Given the description of an element on the screen output the (x, y) to click on. 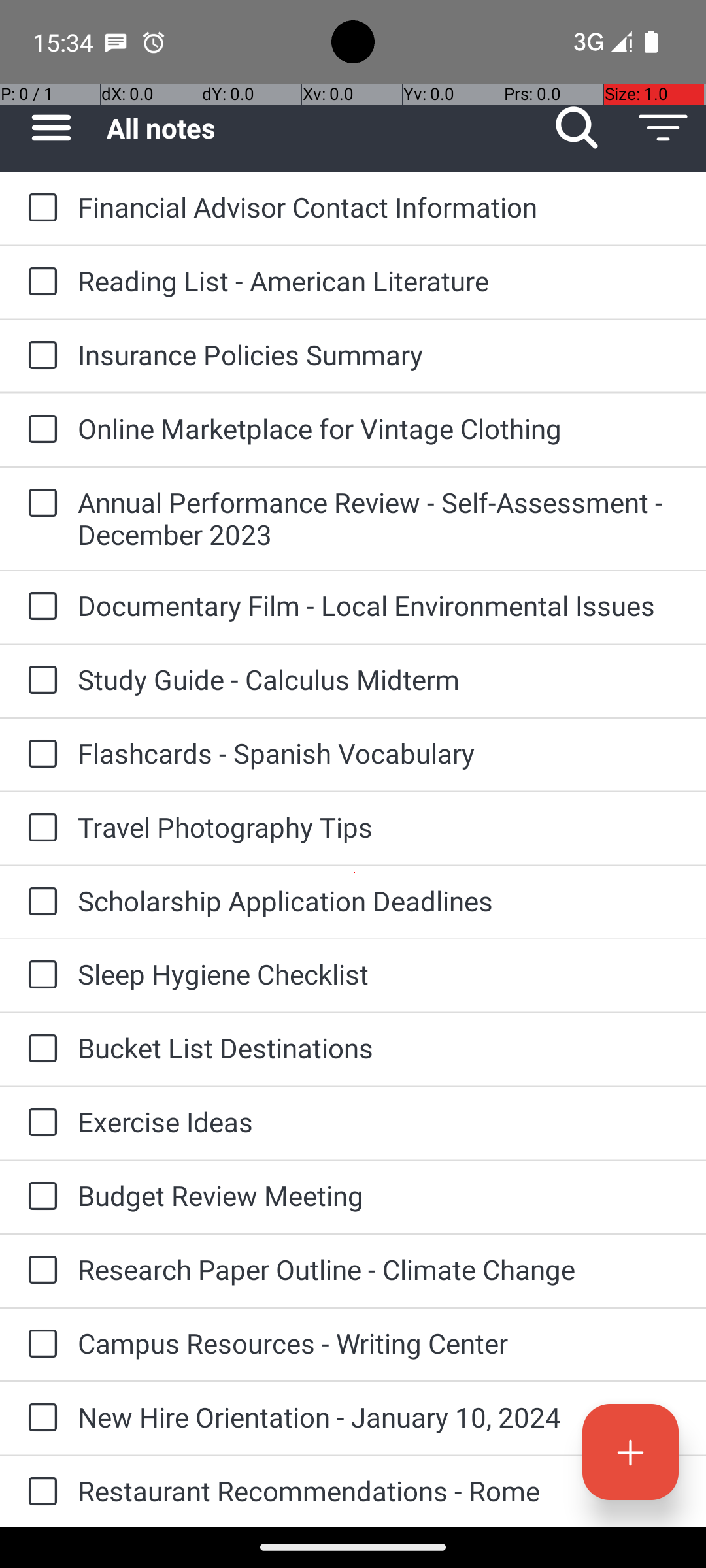
to-do: Reading List - American Literature Element type: android.widget.CheckBox (38, 282)
Reading List - American Literature Element type: android.widget.TextView (378, 280)
to-do: Insurance Policies Summary Element type: android.widget.CheckBox (38, 356)
Insurance Policies Summary Element type: android.widget.TextView (378, 354)
to-do: Documentary Film - Local Environmental Issues Element type: android.widget.CheckBox (38, 606)
Documentary Film - Local Environmental Issues Element type: android.widget.TextView (378, 604)
to-do: Study Guide - Calculus Midterm Element type: android.widget.CheckBox (38, 680)
Study Guide - Calculus Midterm Element type: android.widget.TextView (378, 678)
to-do: Flashcards - Spanish Vocabulary Element type: android.widget.CheckBox (38, 754)
Flashcards - Spanish Vocabulary Element type: android.widget.TextView (378, 752)
to-do: Travel Photography Tips Element type: android.widget.CheckBox (38, 828)
Travel Photography Tips Element type: android.widget.TextView (378, 826)
to-do: Scholarship Application Deadlines Element type: android.widget.CheckBox (38, 902)
Scholarship Application Deadlines Element type: android.widget.TextView (378, 900)
to-do: Sleep Hygiene Checklist Element type: android.widget.CheckBox (38, 975)
Sleep Hygiene Checklist Element type: android.widget.TextView (378, 973)
to-do: Bucket List Destinations Element type: android.widget.CheckBox (38, 1049)
Bucket List Destinations Element type: android.widget.TextView (378, 1047)
to-do: Exercise Ideas Element type: android.widget.CheckBox (38, 1123)
Exercise Ideas Element type: android.widget.TextView (378, 1121)
to-do: Budget Review Meeting Element type: android.widget.CheckBox (38, 1196)
Budget Review Meeting Element type: android.widget.TextView (378, 1194)
to-do: Research Paper Outline - Climate Change Element type: android.widget.CheckBox (38, 1270)
Research Paper Outline - Climate Change Element type: android.widget.TextView (378, 1268)
to-do: Campus Resources - Writing Center Element type: android.widget.CheckBox (38, 1344)
Campus Resources - Writing Center Element type: android.widget.TextView (378, 1342)
to-do: New Hire Orientation - January 10, 2024 Element type: android.widget.CheckBox (38, 1418)
New Hire Orientation - January 10, 2024 Element type: android.widget.TextView (378, 1416)
to-do: Restaurant Recommendations - Rome Element type: android.widget.CheckBox (38, 1491)
